Given the description of an element on the screen output the (x, y) to click on. 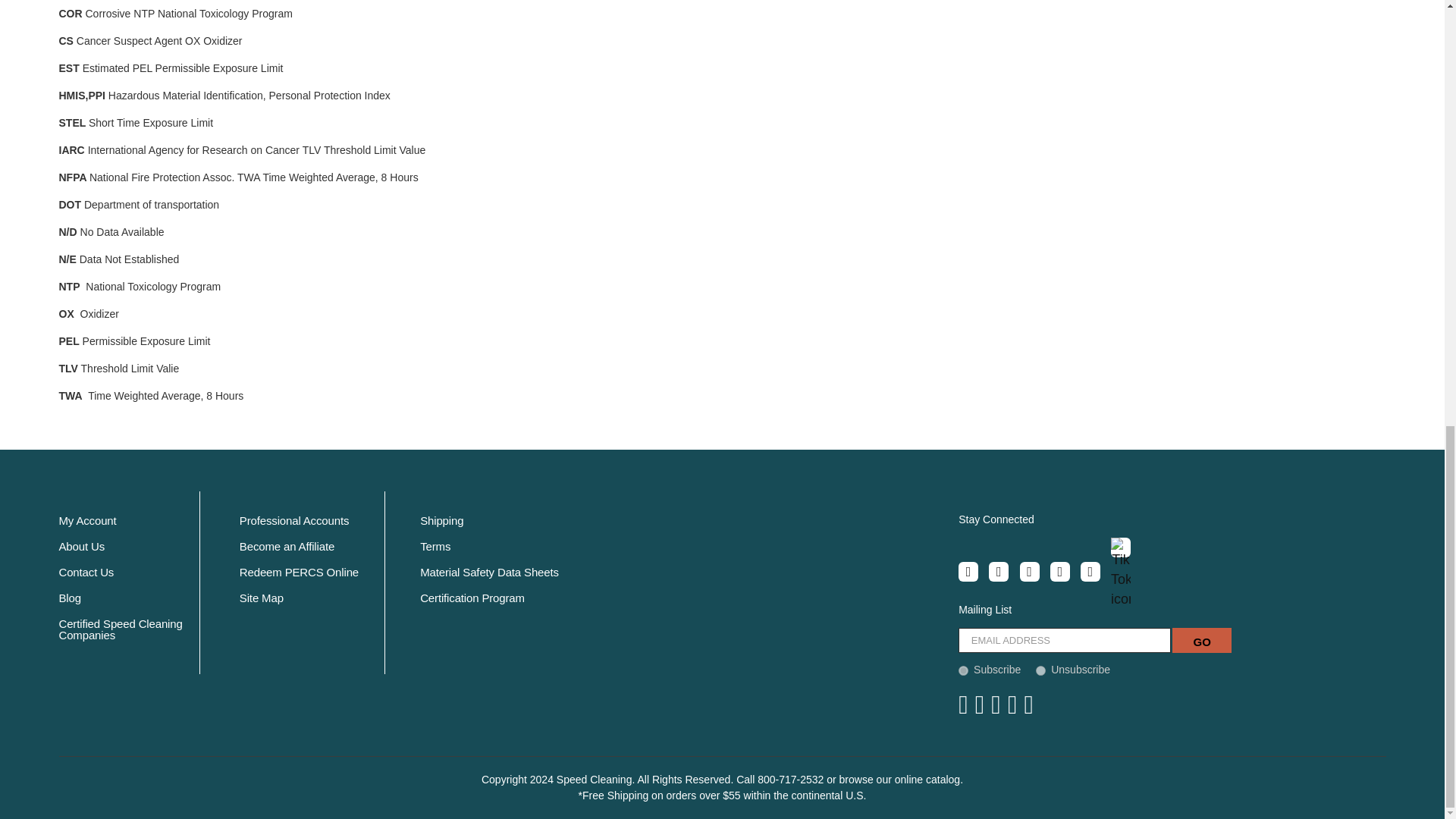
0 (1040, 669)
Subscribe to our Blog (1090, 571)
Subscribe to our Channel (1029, 571)
Follow Us on Twitter (998, 571)
Like Us on Facebook (968, 571)
1 (963, 669)
Follow Us on Instagram (1059, 571)
Follow us on TikTok (1120, 547)
